Given the description of an element on the screen output the (x, y) to click on. 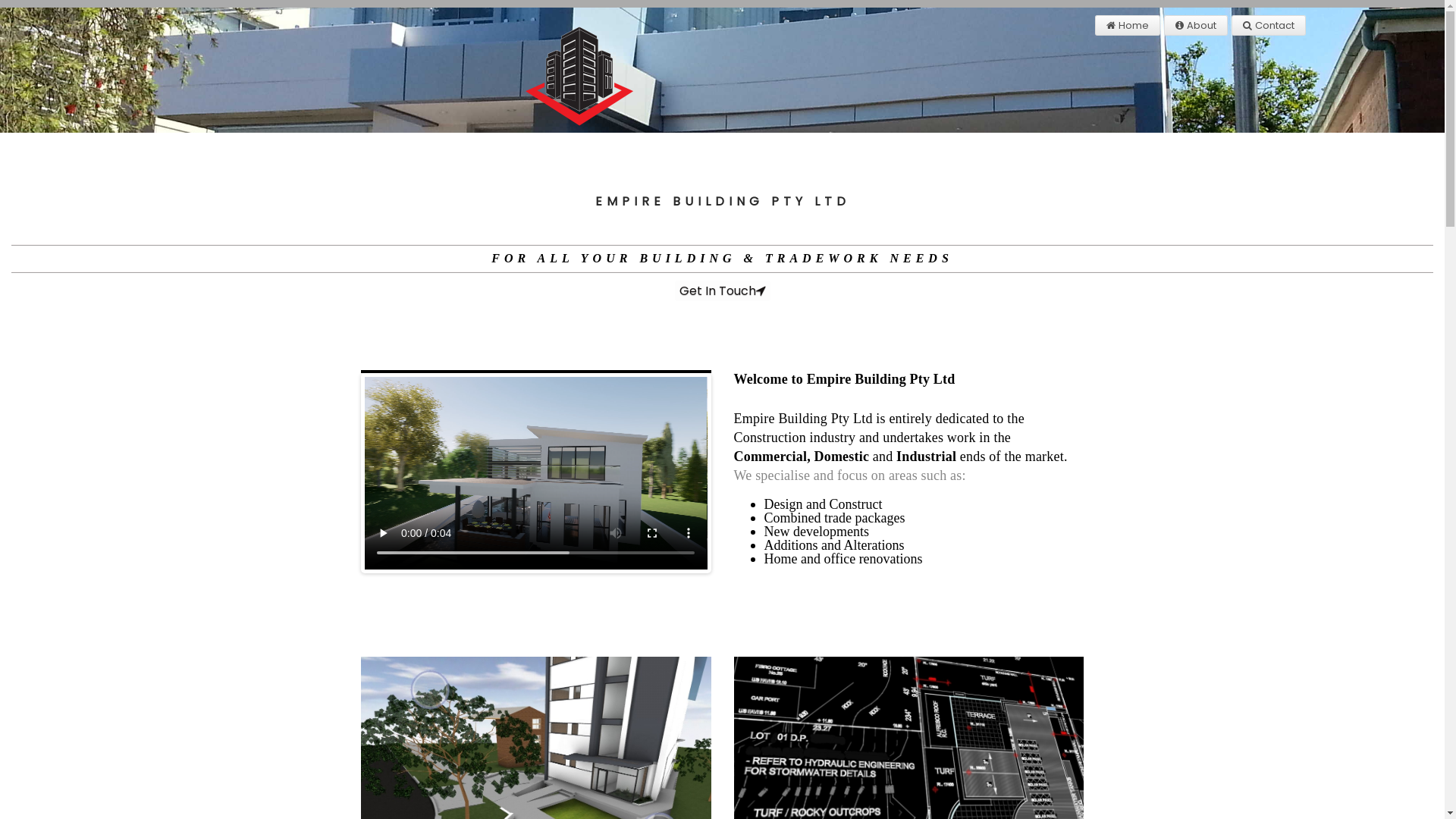
Get In Touch Element type: text (722, 290)
Contact Element type: text (1268, 25)
Home Element type: text (1127, 25)
About Element type: text (1195, 25)
EPB_Logo for Web-04 Element type: hover (541, 69)
